Given the description of an element on the screen output the (x, y) to click on. 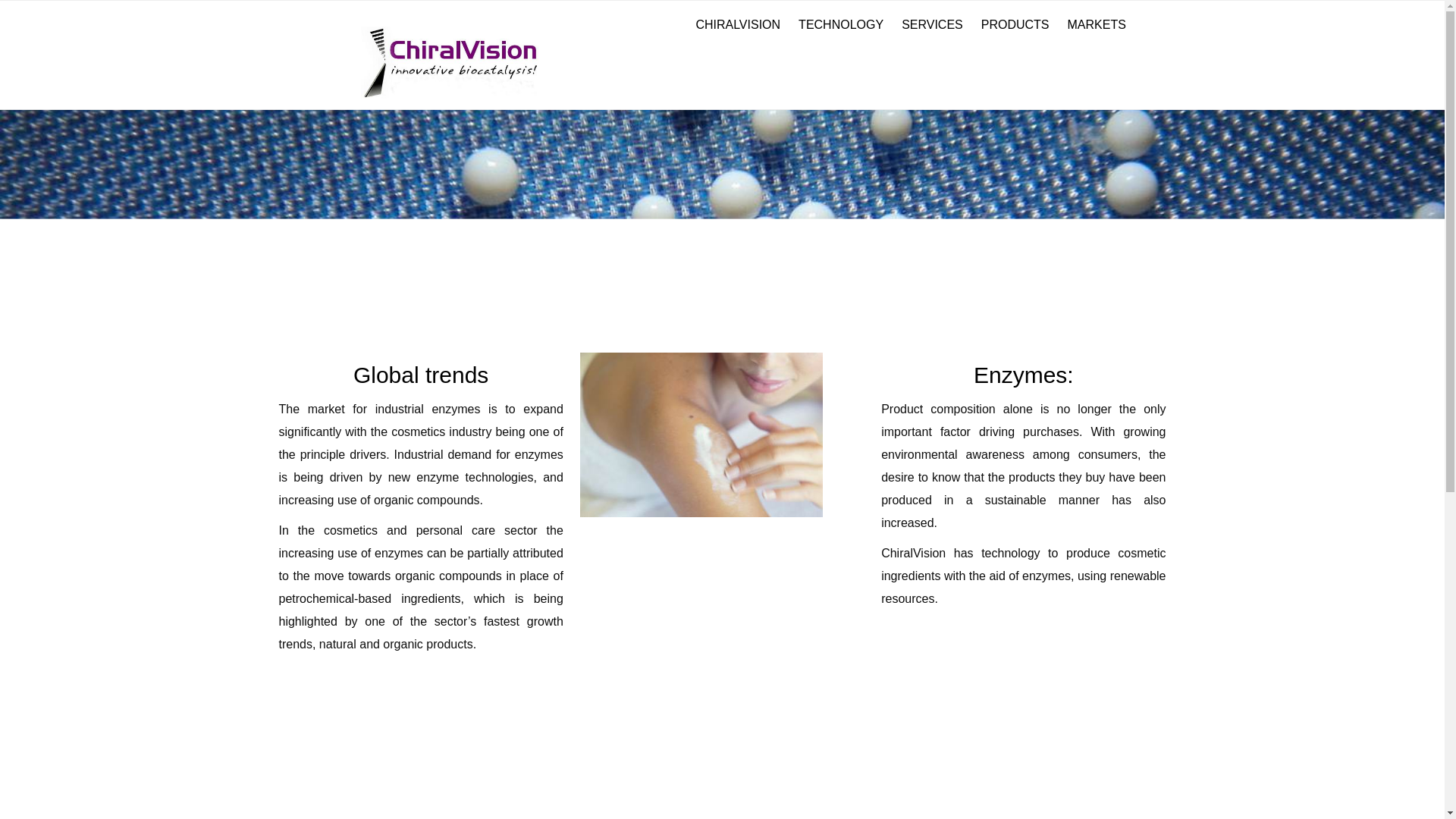
MARKETS (1096, 24)
PRODUCTS (1015, 24)
CHIRALVISION (737, 24)
TECHNOLOGY (840, 24)
SERVICES (932, 24)
